Given the description of an element on the screen output the (x, y) to click on. 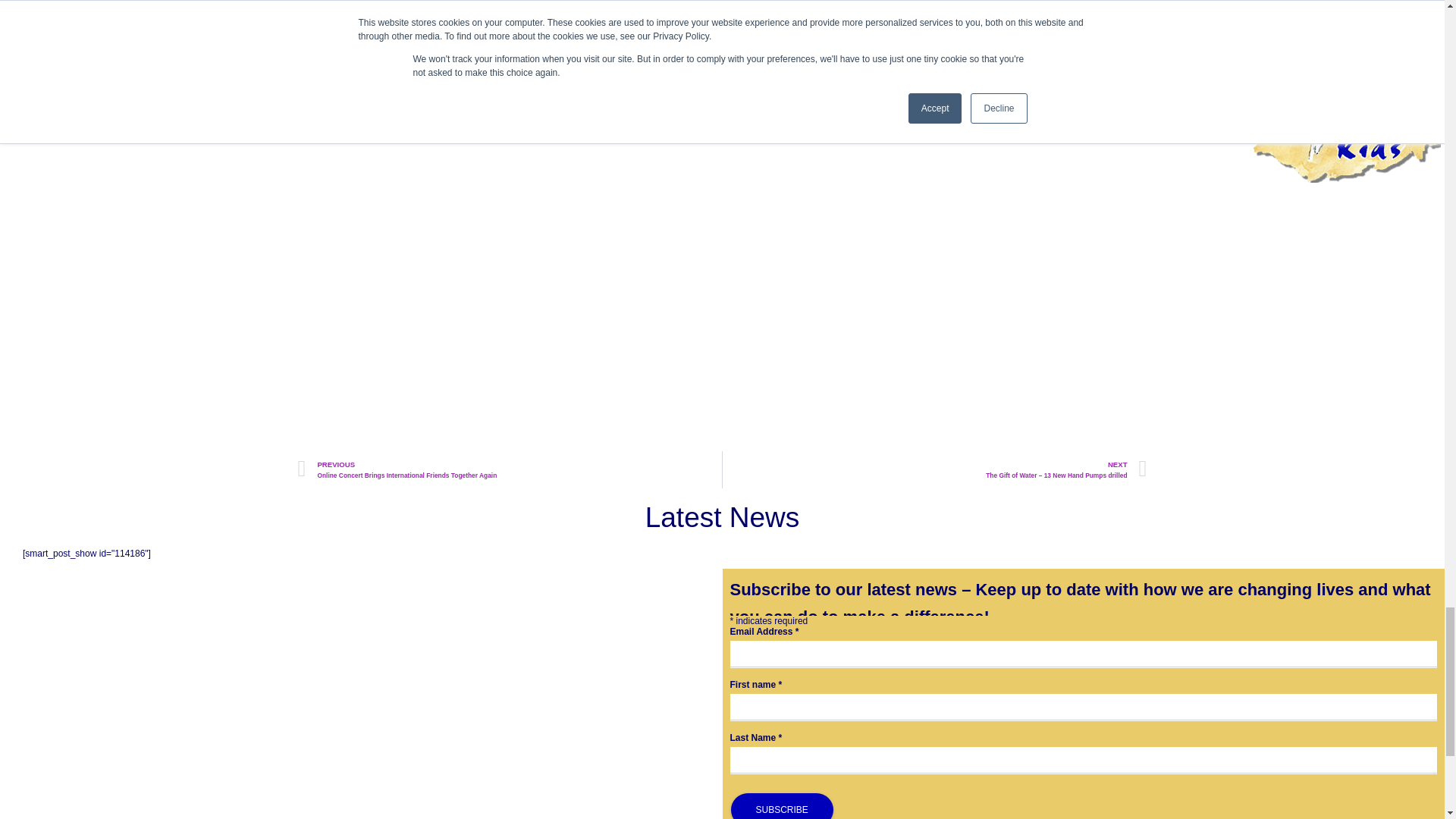
Subscribe (781, 806)
